Given the description of an element on the screen output the (x, y) to click on. 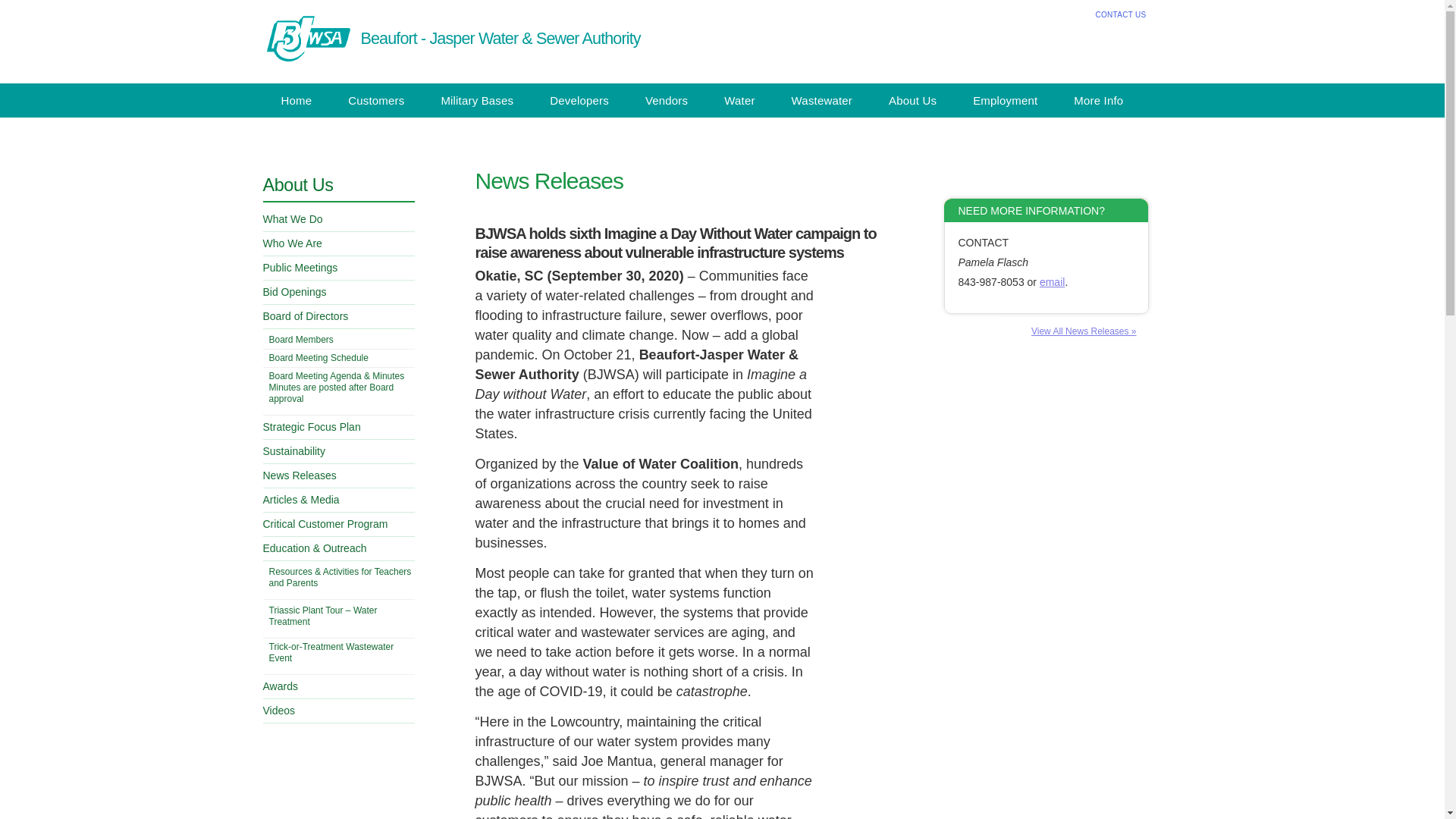
CONTACT US (1119, 14)
Home (296, 100)
BJWSA Website (306, 38)
Wastewater (821, 100)
Water (739, 100)
Developers (579, 100)
Customers (376, 100)
Military Bases (476, 100)
Vendors (666, 100)
